Given the description of an element on the screen output the (x, y) to click on. 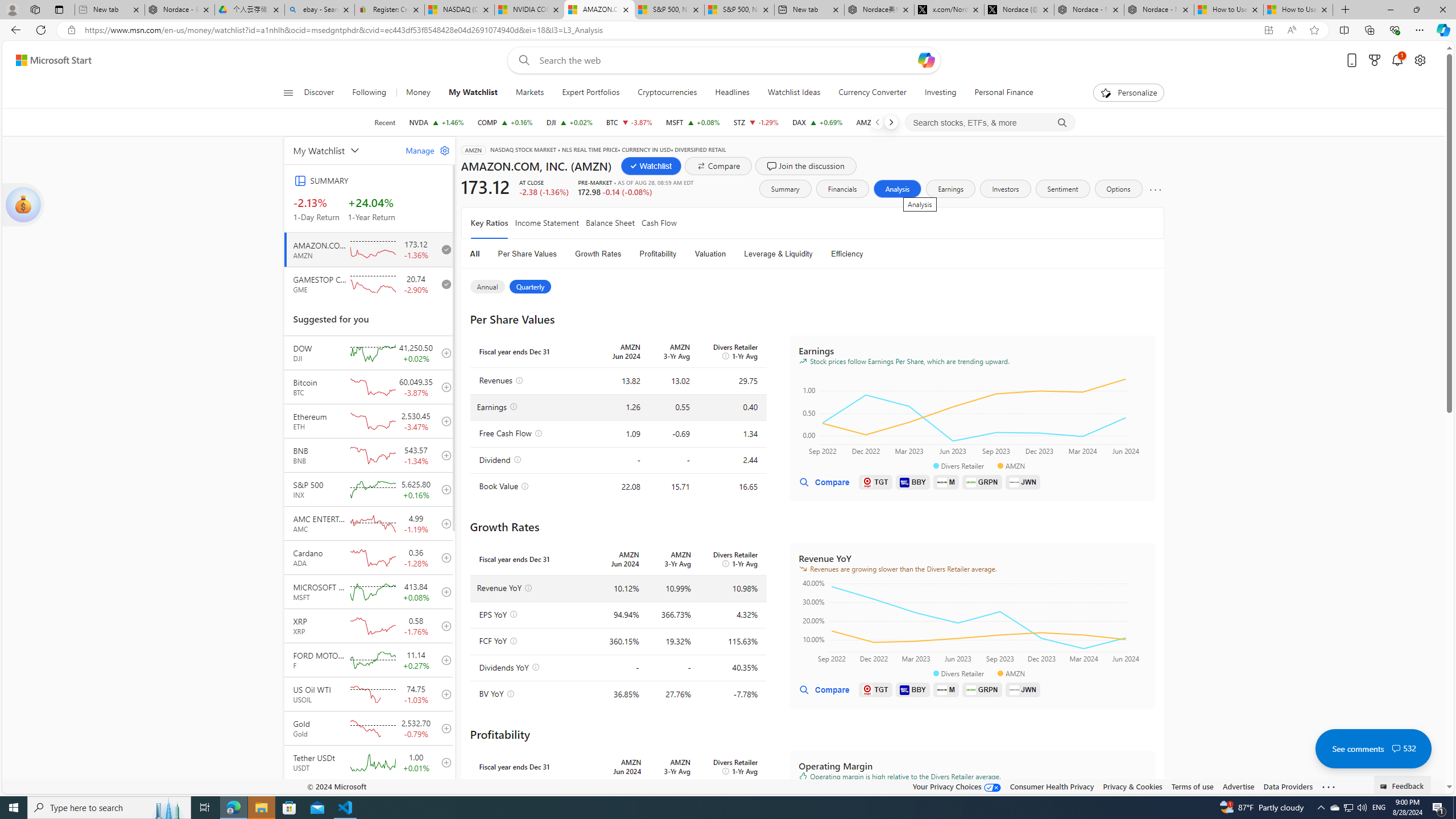
Recent (385, 121)
Annual (487, 286)
Watchlist Ideas (793, 92)
Next (890, 122)
Markets (529, 92)
Terms of use (1192, 786)
COMP NASDAQ increase 17,754.82 +29.06 +0.16% (505, 122)
Manage (422, 150)
App available. Install Start Money (1268, 29)
Address and search bar (669, 29)
My Watchlist (472, 92)
